Given the description of an element on the screen output the (x, y) to click on. 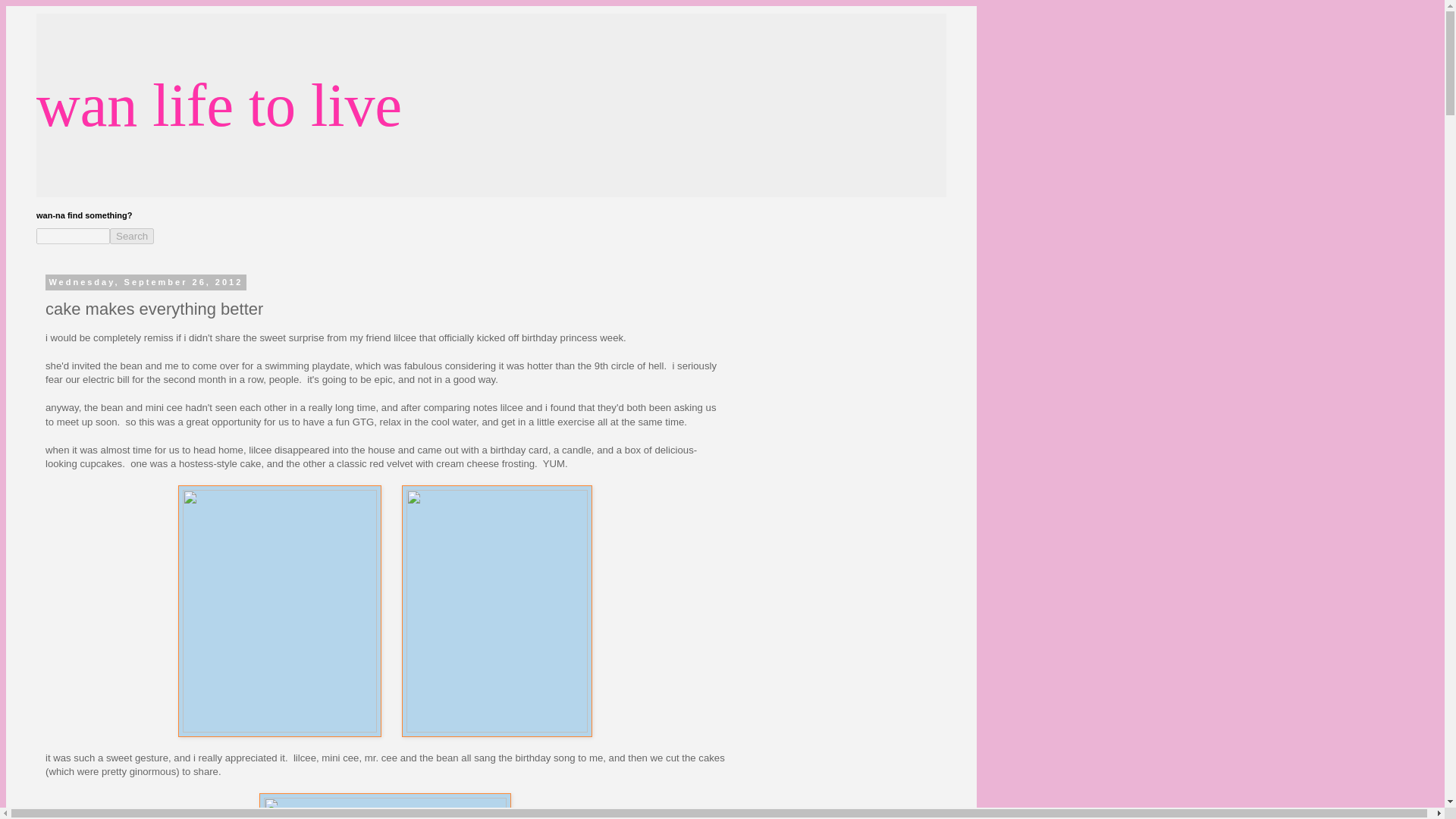
search (132, 236)
search (73, 236)
Search (132, 236)
Search (132, 236)
Search (132, 236)
wan life to live (218, 105)
